Given the description of an element on the screen output the (x, y) to click on. 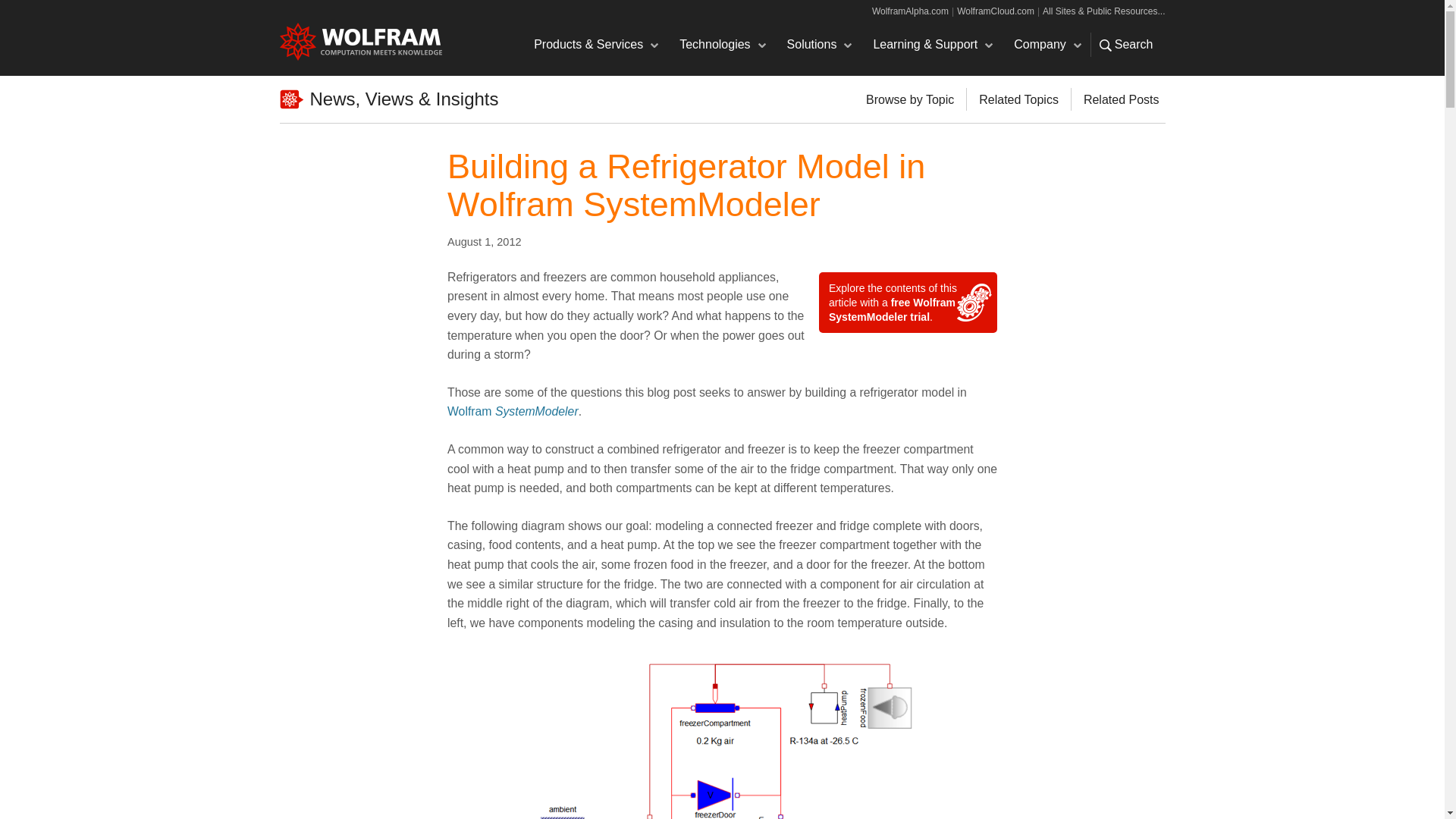
WolframAlpha.com (910, 10)
WolframCloud.com (994, 10)
